Given the description of an element on the screen output the (x, y) to click on. 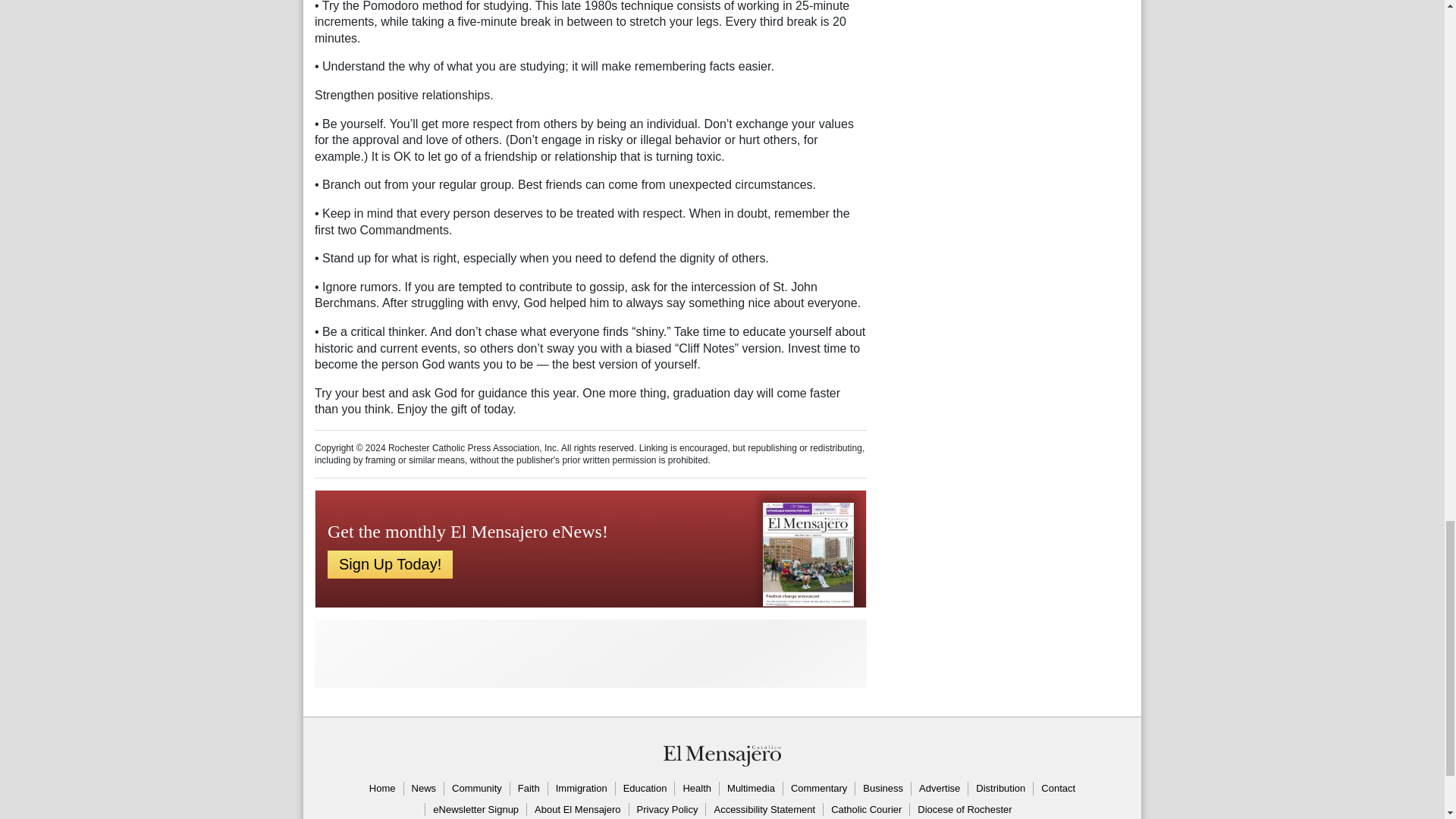
Commentary (818, 788)
Multimedia (751, 788)
Business (882, 788)
About El Mensajero (576, 809)
Faith (528, 788)
Privacy Policy (667, 809)
Sign Up Today! (389, 564)
News (423, 788)
Immigration (580, 788)
Advertise (939, 788)
